Given the description of an element on the screen output the (x, y) to click on. 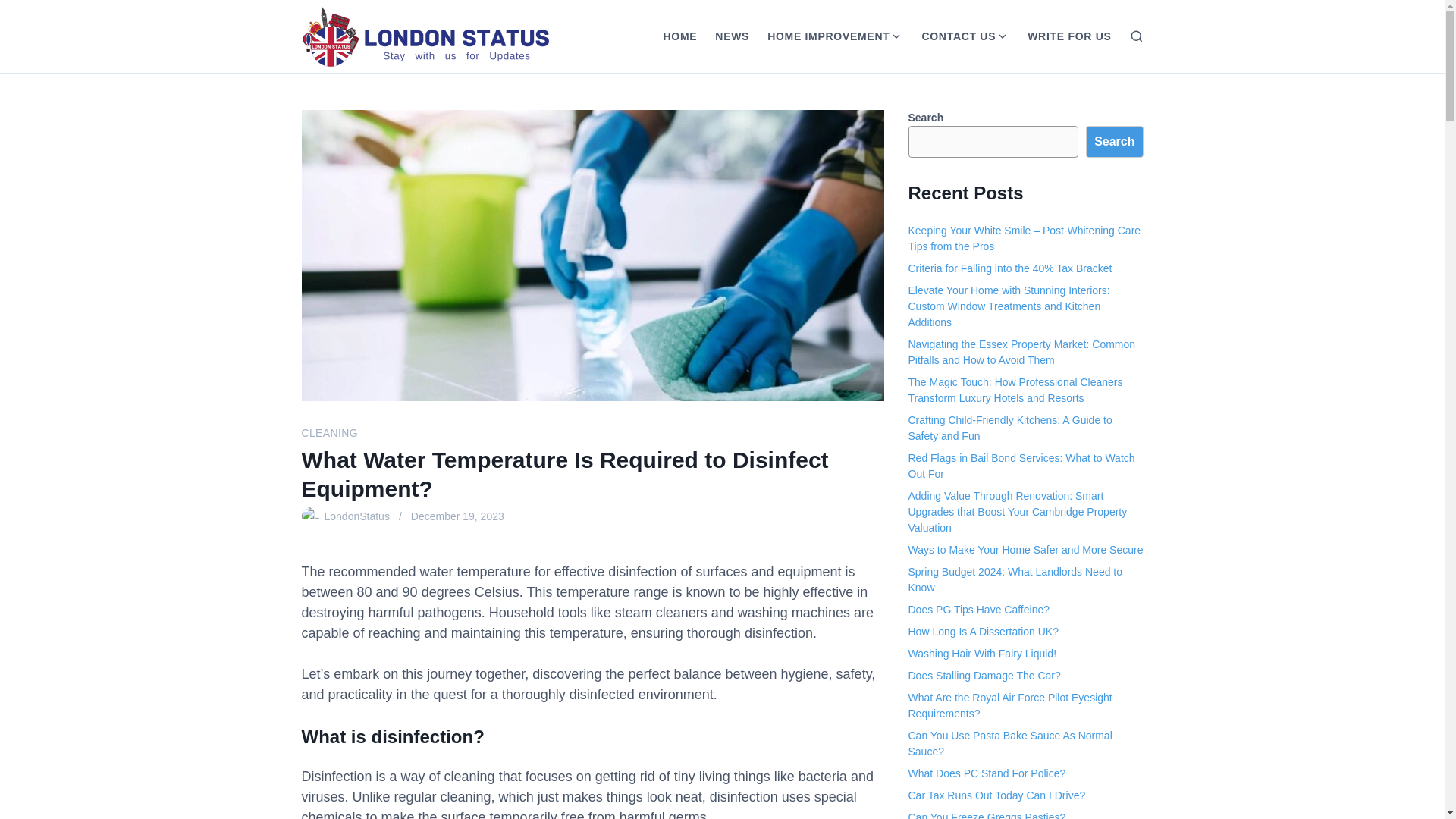
WRITE FOR US (1068, 36)
Search (1114, 142)
LondonStatus (357, 515)
HOME IMPROVEMENT (823, 36)
CONTACT US (953, 36)
HOME (679, 36)
CLEANING (329, 432)
NEWS (732, 36)
